Given the description of an element on the screen output the (x, y) to click on. 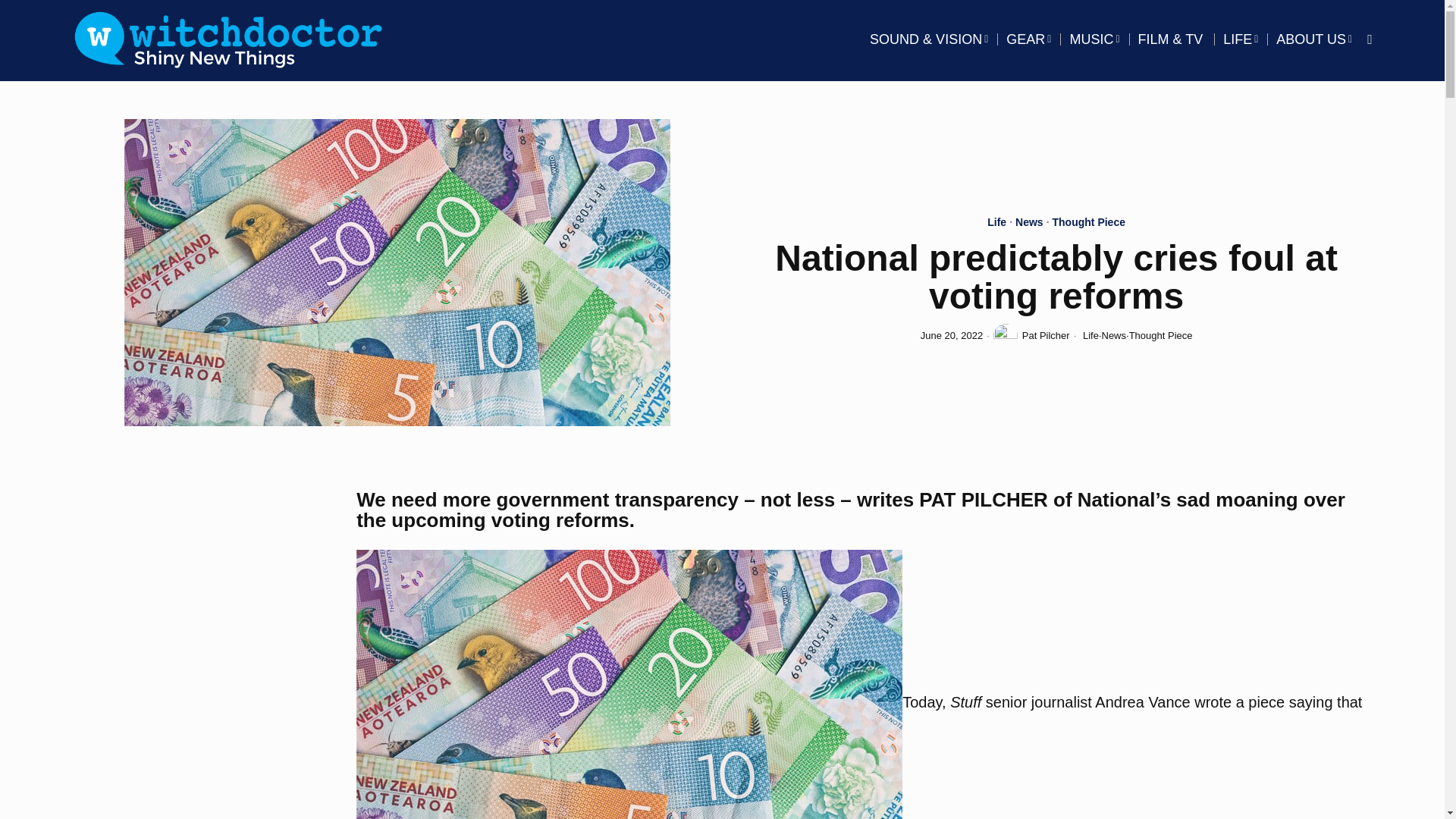
Life (1091, 335)
Life (996, 223)
Thought Piece (1088, 223)
ABOUT US (1313, 39)
LIFE (1240, 39)
News (1112, 335)
20 Jun, 2022 18:46:34 (951, 336)
Pat Pilcher (1031, 335)
GEAR (1028, 39)
News (1028, 223)
MUSIC (1093, 39)
